Given the description of an element on the screen output the (x, y) to click on. 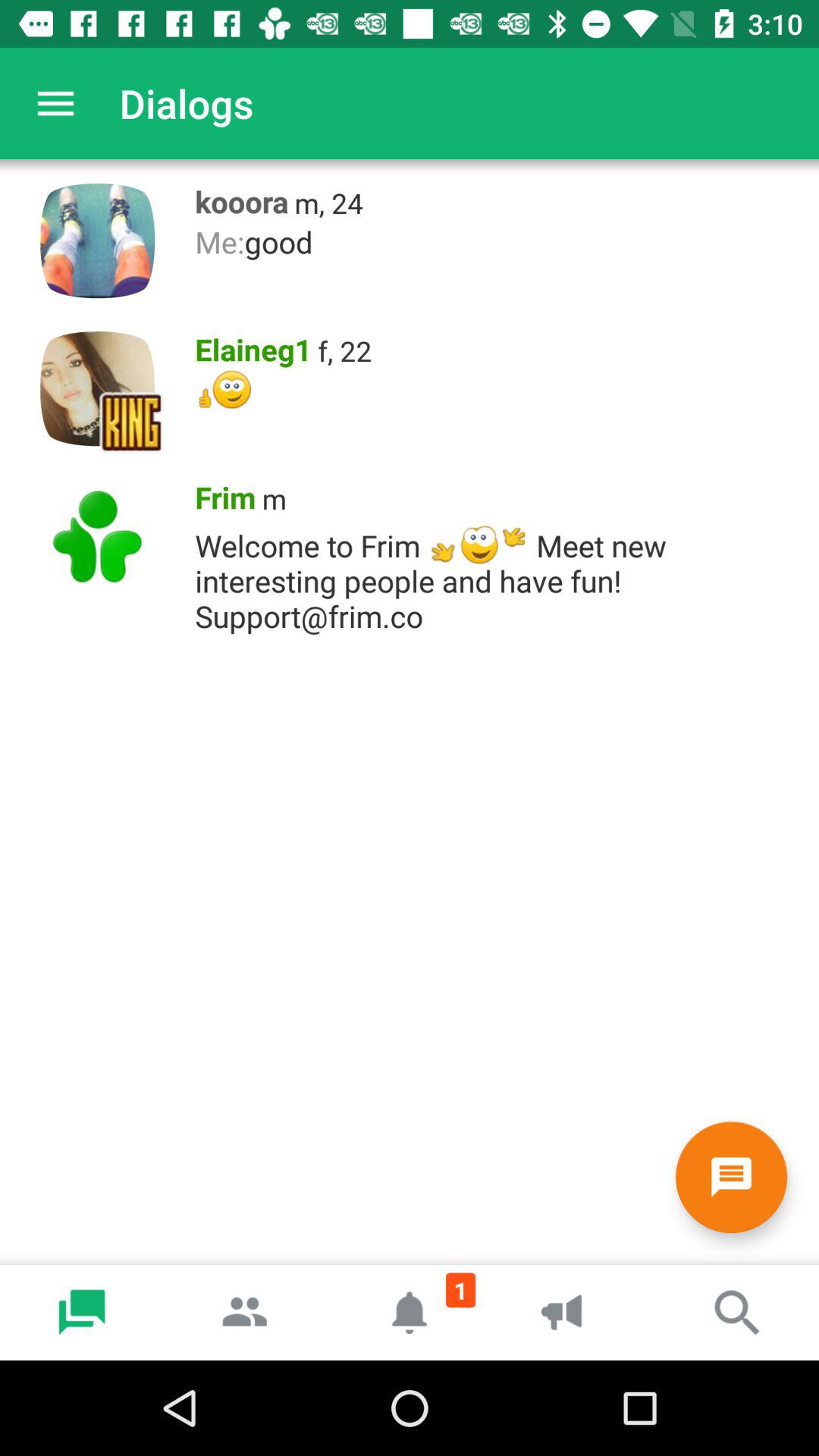
jump until elaineg1 (248, 346)
